Given the description of an element on the screen output the (x, y) to click on. 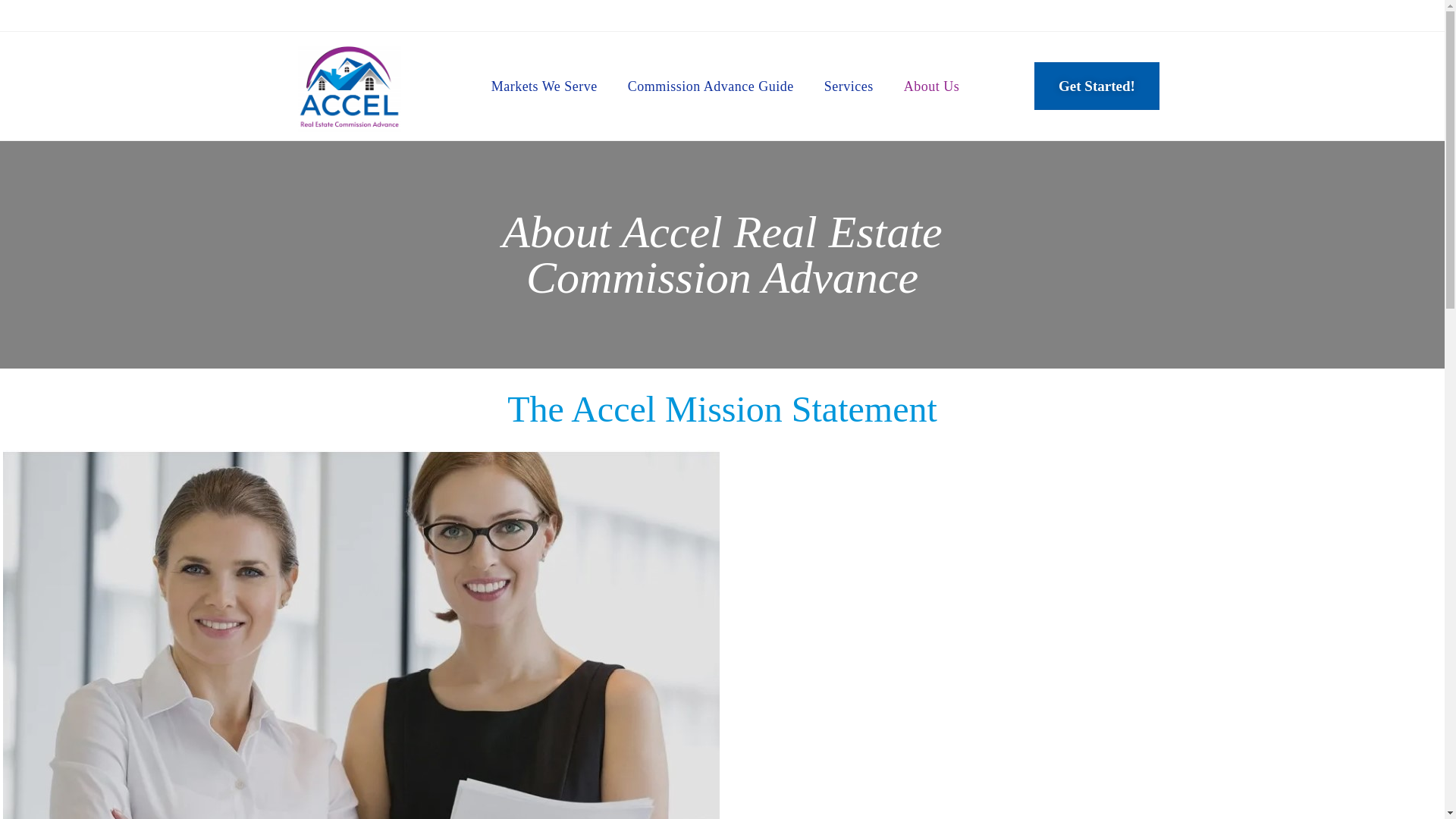
Commission Advance Guide (710, 86)
Services (848, 86)
About Us (931, 86)
Get Started! (1095, 85)
267-769-0747 (767, 15)
Markets We Serve (544, 86)
